Given the description of an element on the screen output the (x, y) to click on. 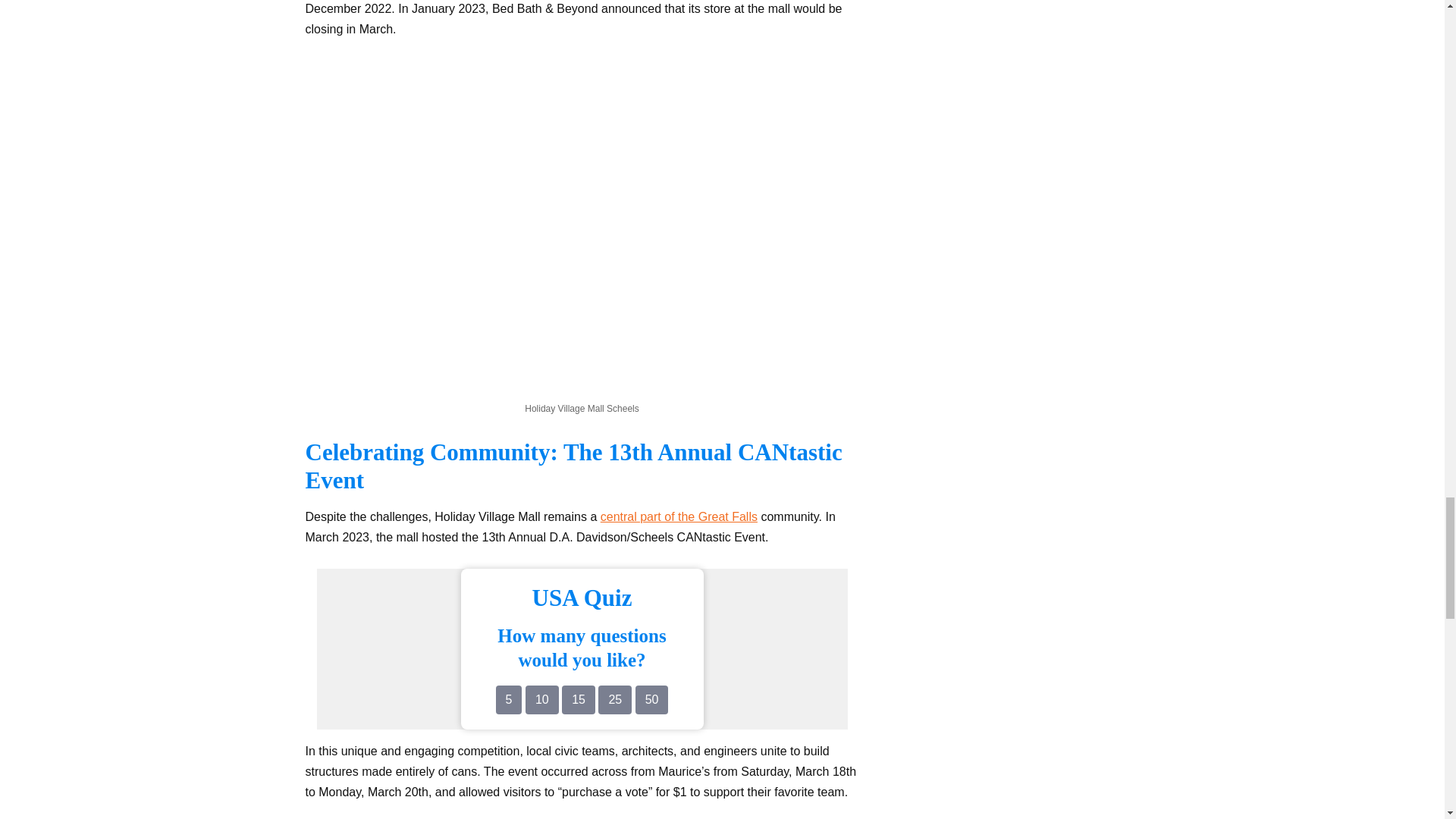
15 (578, 699)
5 (509, 699)
central part of the Great Falls (678, 516)
10 (542, 699)
50 (651, 699)
25 (614, 699)
